Given the description of an element on the screen output the (x, y) to click on. 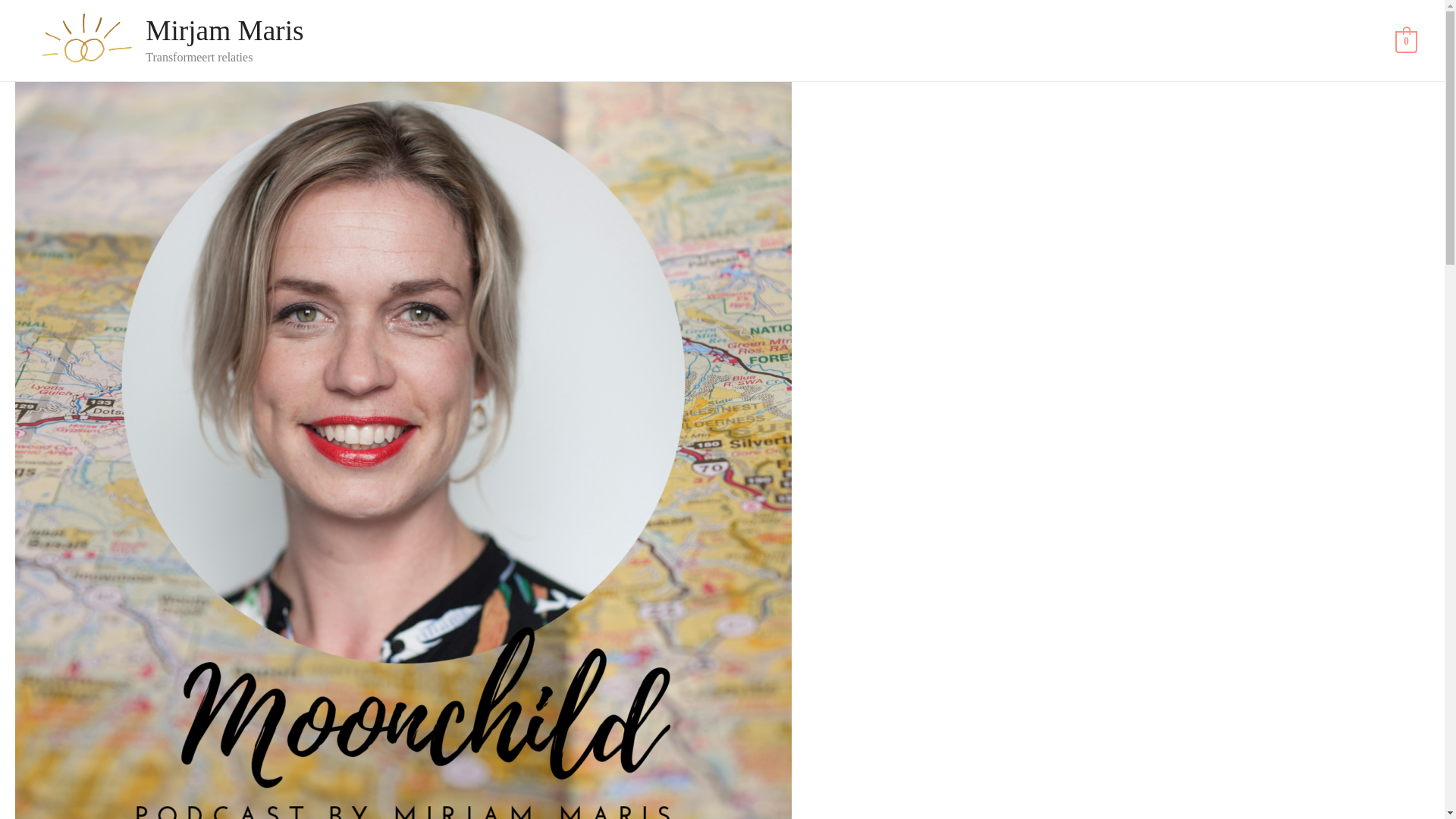
0 (1405, 40)
Mirjam Maris (223, 30)
Bekijk je winkelwagen (1405, 40)
